Given the description of an element on the screen output the (x, y) to click on. 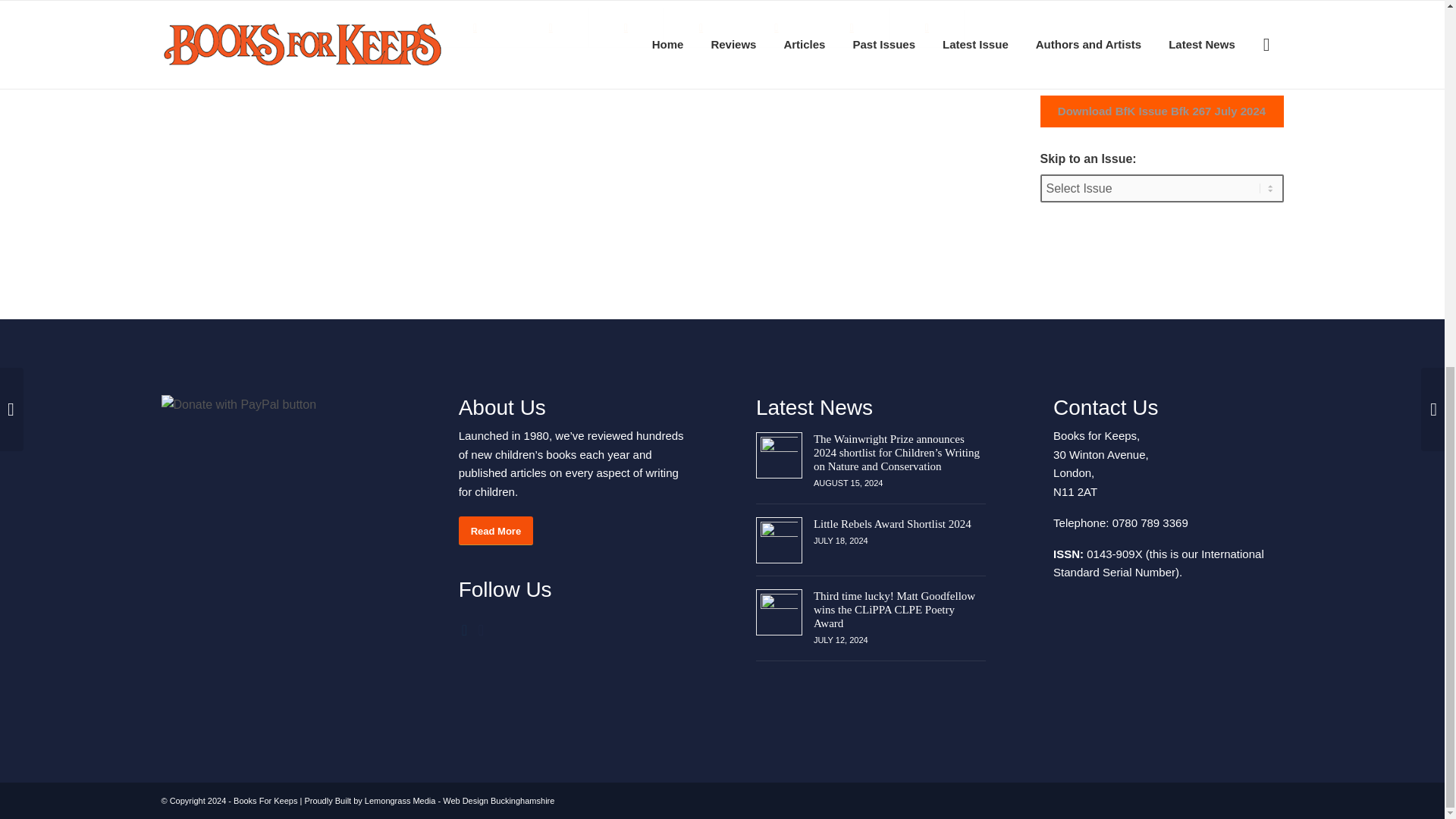
Little Rebels Award Shortlist 2024 (892, 523)
Link to: Little Rebels Award Shortlist 2024 (778, 539)
Read More (495, 531)
Download BfK Issue Bfk 267 July 2024 (1162, 111)
PayPal - The safer, easier way to pay online! (275, 404)
